Given the description of an element on the screen output the (x, y) to click on. 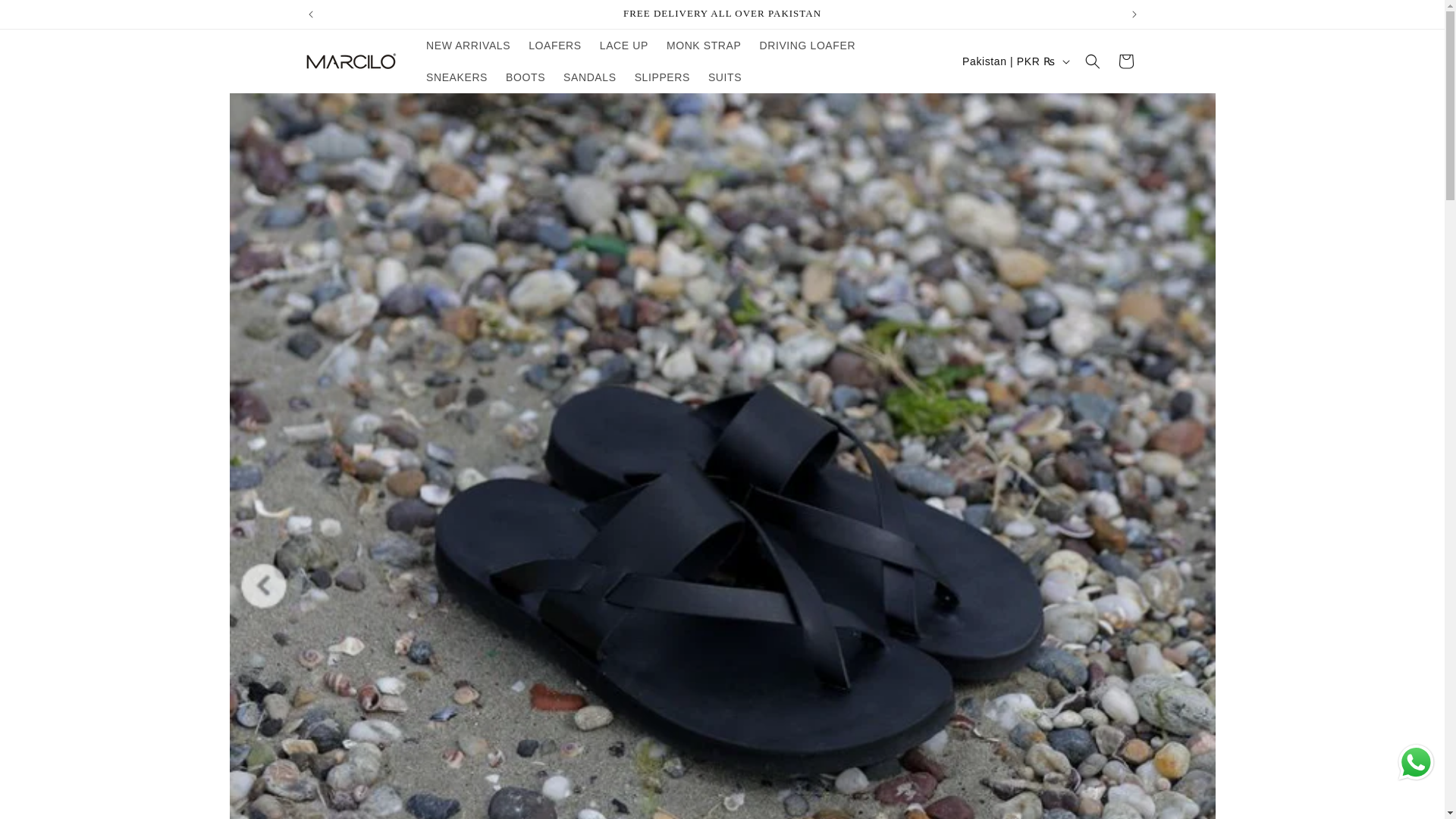
BOOTS (525, 77)
DRIVING LOAFER (806, 45)
Cart (1124, 61)
LOAFERS (555, 45)
MONK STRAP (704, 45)
SNEAKERS (456, 77)
SUITS (724, 77)
NEW ARRIVALS (467, 45)
LACE UP (624, 45)
SANDALS (590, 77)
SLIPPERS (662, 77)
Skip to content (48, 20)
